Given the description of an element on the screen output the (x, y) to click on. 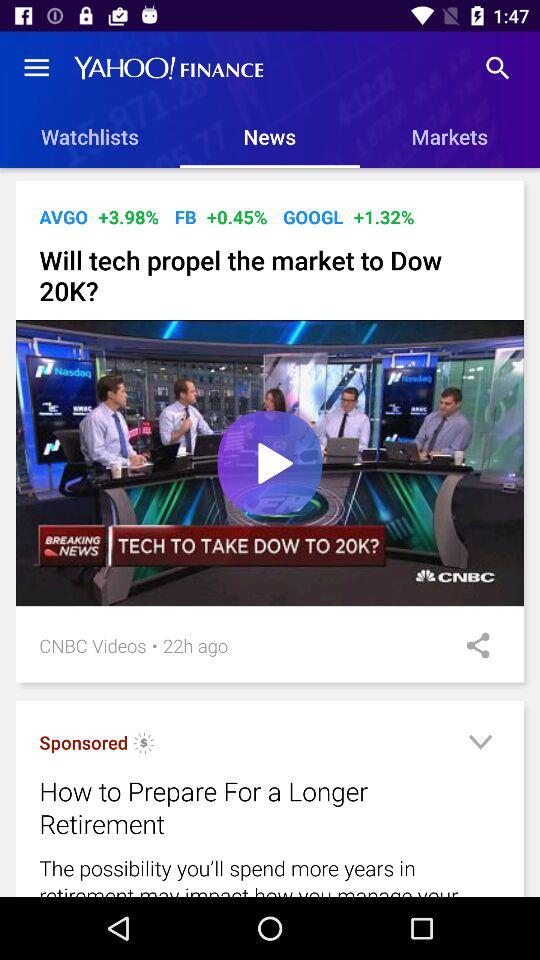
tap the 22h ago (195, 645)
